Given the description of an element on the screen output the (x, y) to click on. 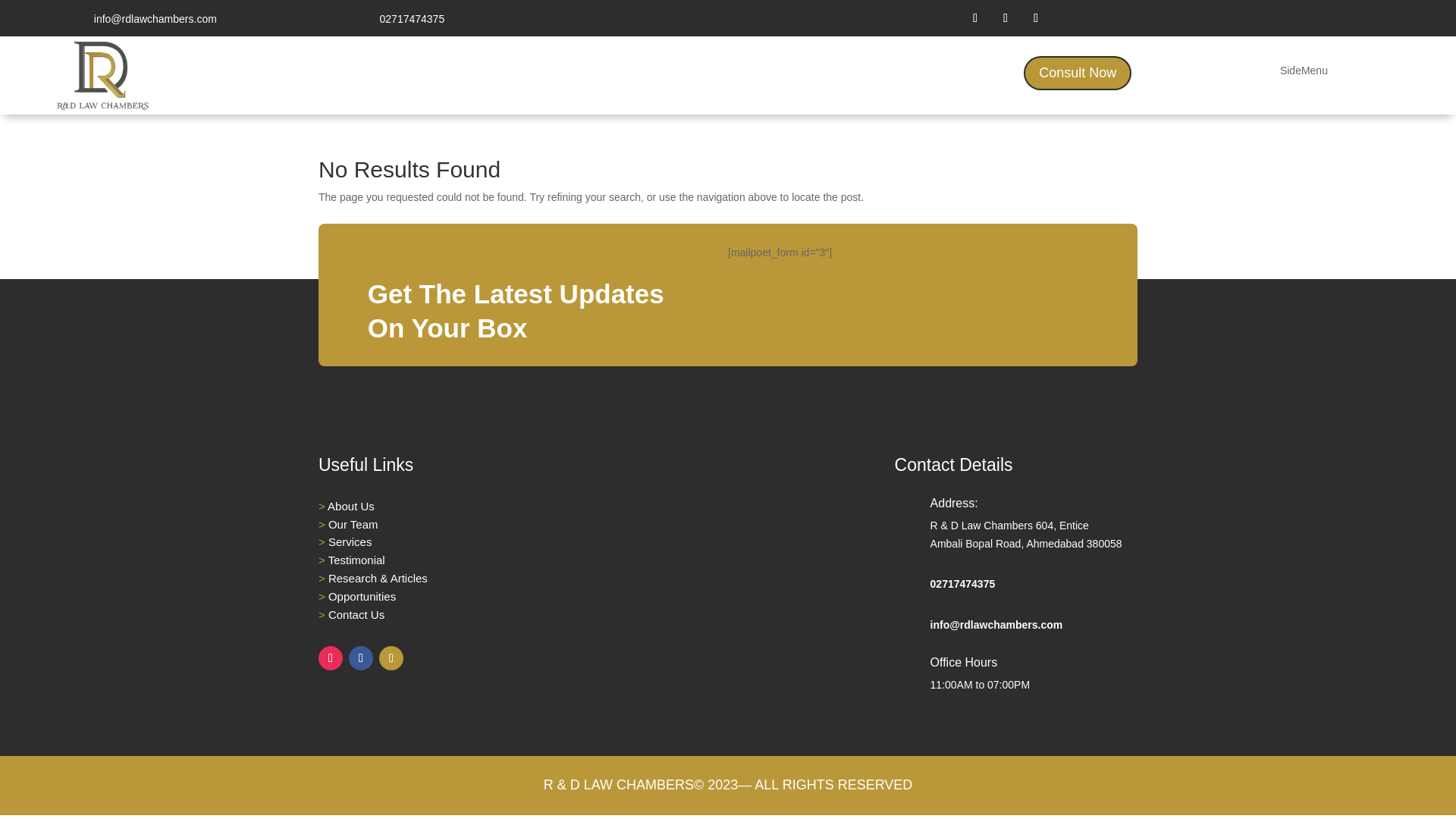
Contact Us (356, 614)
Follow on Facebook (1004, 17)
SideMenu (1303, 73)
Follow on Instagram (974, 17)
Open SideMenu (1303, 73)
Intersection 1 (102, 73)
Consult Now (1077, 73)
Follow on Facebook (360, 658)
Services (350, 541)
02717474375 (962, 583)
Follow on Instagram (330, 658)
Follow on LinkedIn (1035, 17)
Follow on LinkedIn (390, 658)
Opportunities (362, 595)
02717474375 (412, 19)
